Given the description of an element on the screen output the (x, y) to click on. 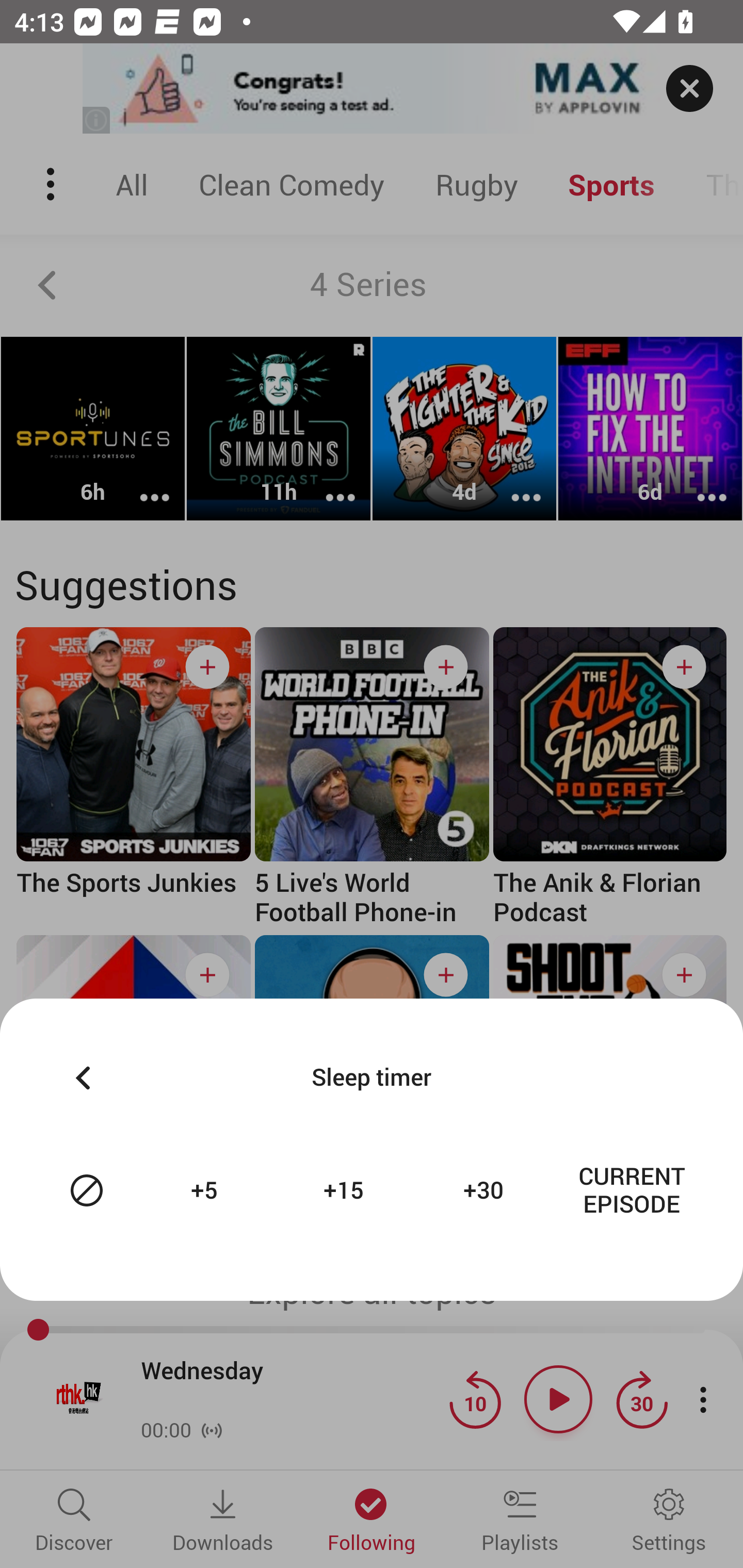
Reset (86, 1190)
+5  (206, 1190)
+15  (346, 1190)
+30  (486, 1190)
CURRENT
EPISODE (631, 1190)
